Given the description of an element on the screen output the (x, y) to click on. 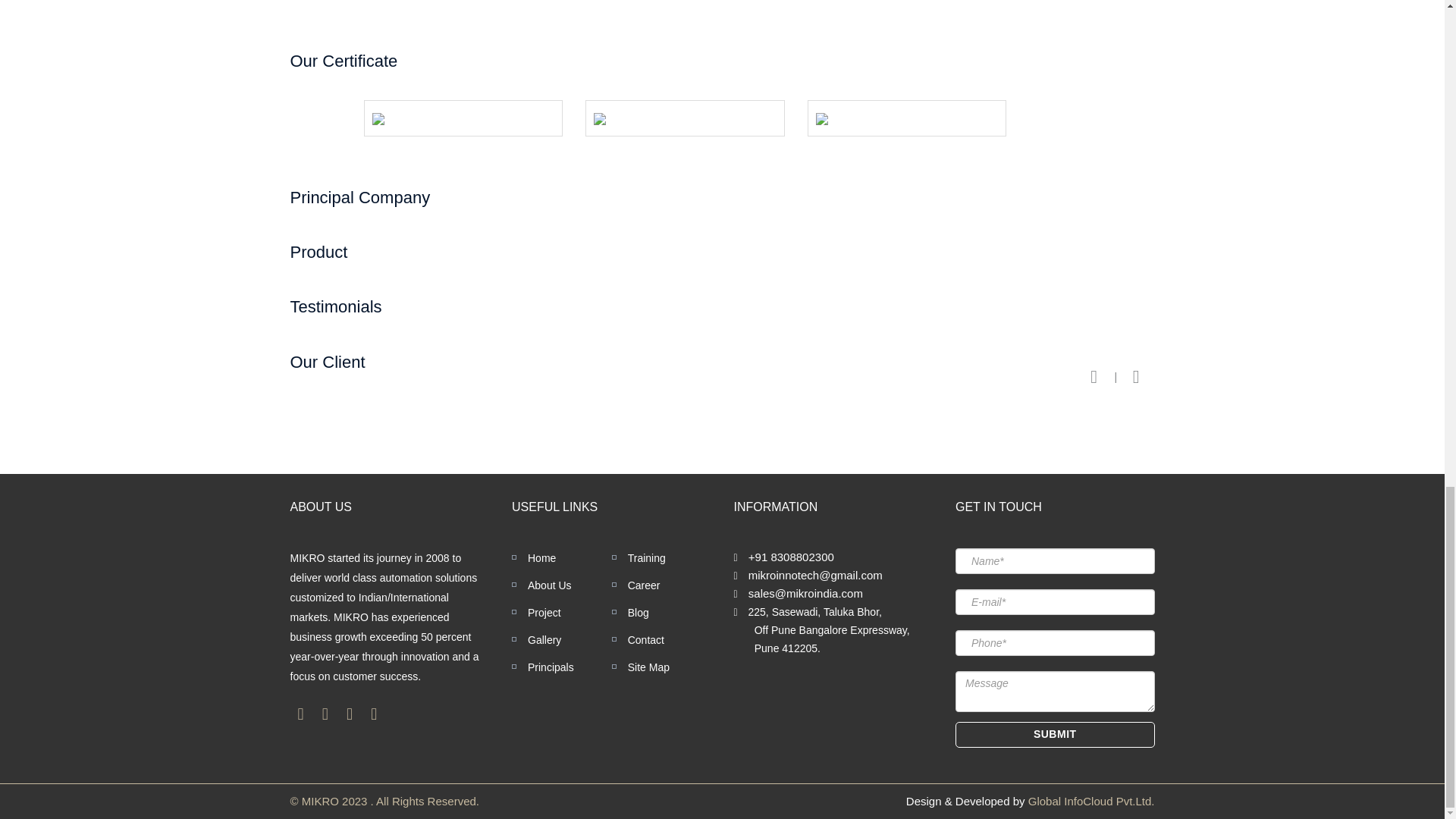
Submit (1054, 734)
